Given the description of an element on the screen output the (x, y) to click on. 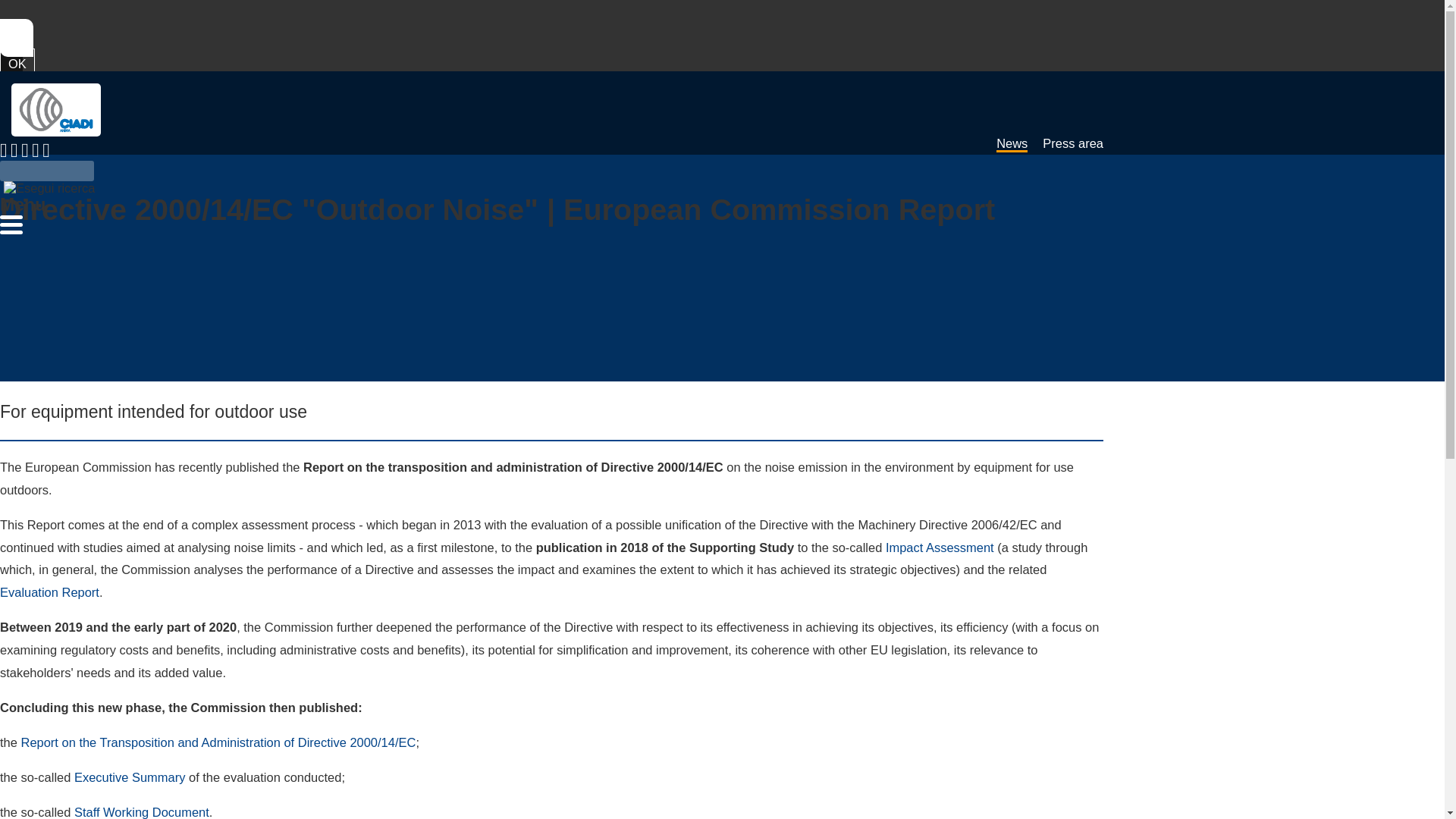
OK (17, 63)
Ciadi (55, 109)
OK (17, 63)
